Given the description of an element on the screen output the (x, y) to click on. 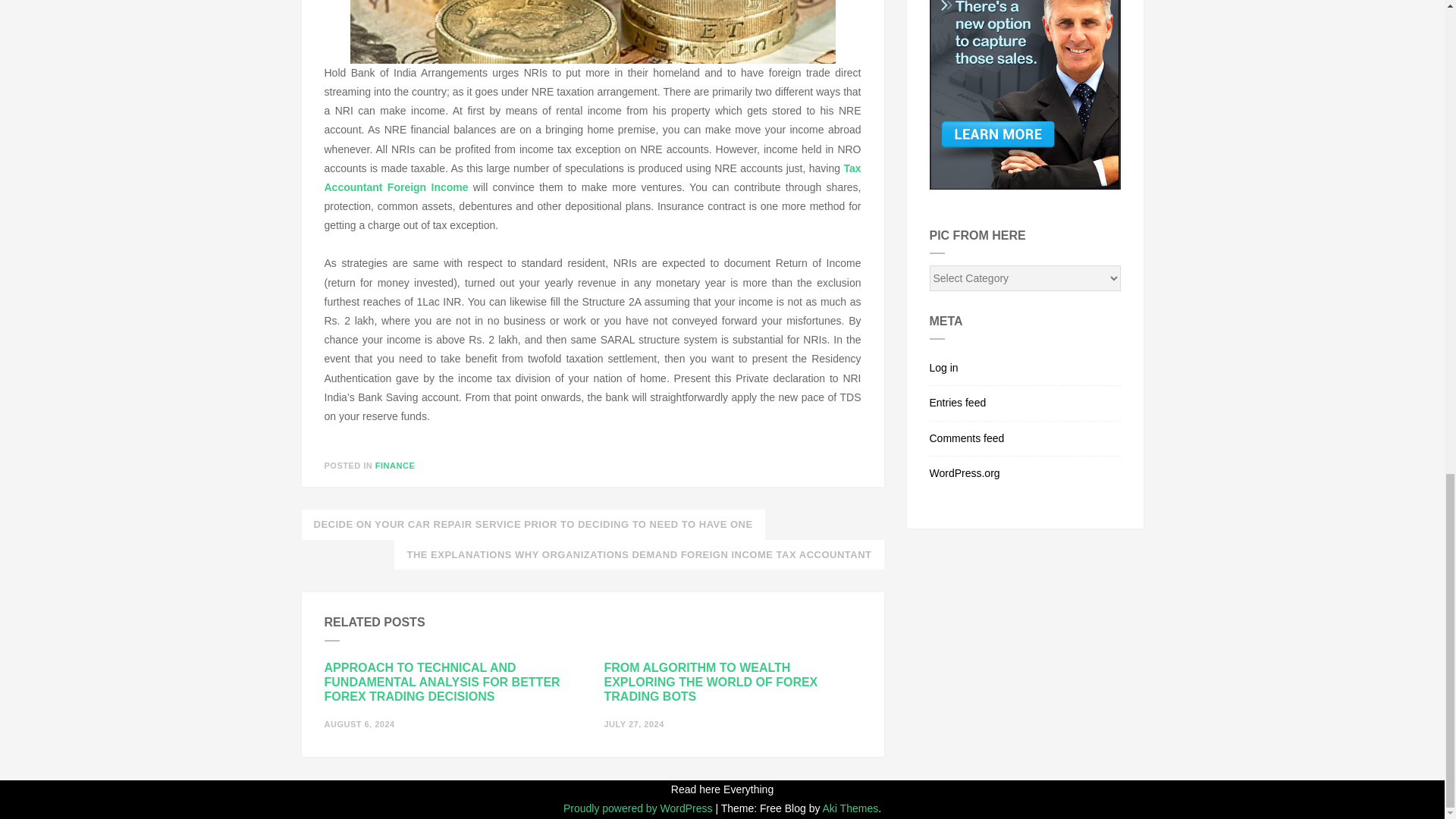
Aki Themes (850, 808)
Entries feed (1025, 402)
Tax Accountant Foreign Income (592, 177)
Comments feed (1025, 438)
WordPress.org (1025, 469)
Log in (1025, 368)
